Given the description of an element on the screen output the (x, y) to click on. 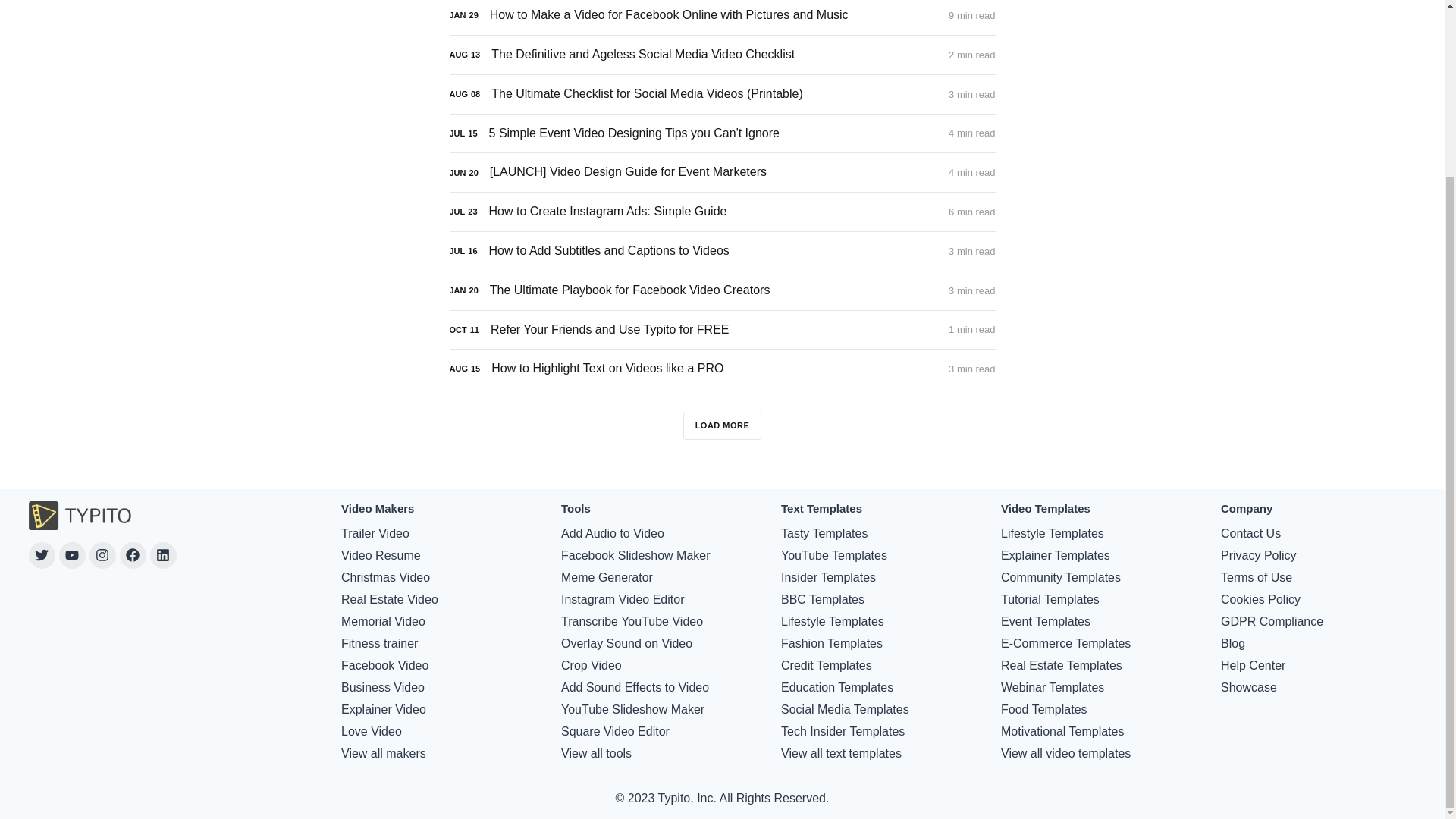
Memorial Video (382, 621)
Trailer Video (374, 533)
Twitter (42, 555)
Real Estate Video (389, 599)
YouTube (72, 555)
Christmas Video (384, 577)
Video Resume (380, 556)
LOAD MORE (721, 425)
Love Video (370, 731)
Instagram (102, 555)
Business Video (382, 687)
LinkedIn (162, 555)
Facebook (133, 555)
Fitness trainer (378, 643)
Explainer Video (383, 710)
